Given the description of an element on the screen output the (x, y) to click on. 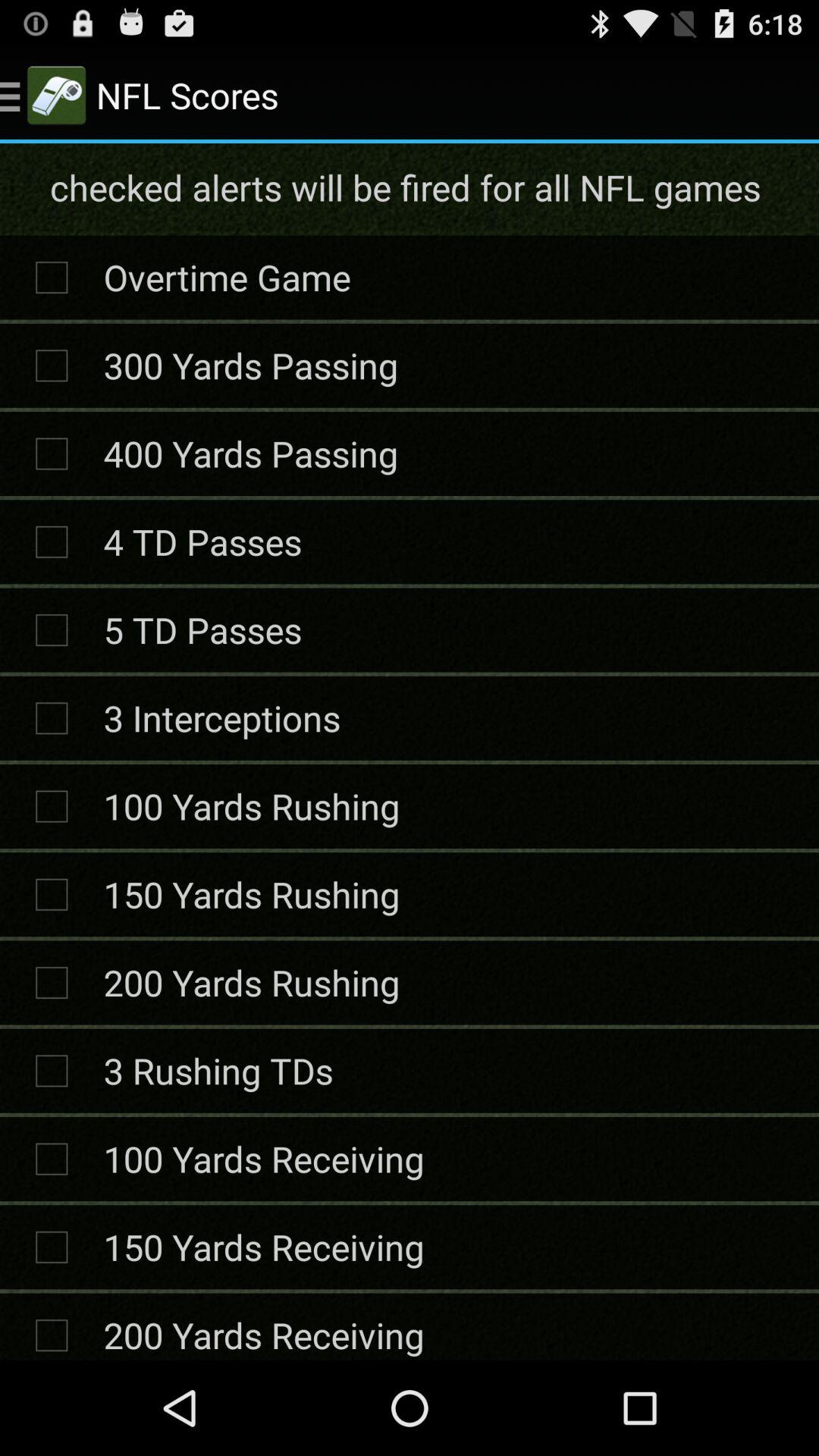
swipe until the 3 interceptions item (221, 717)
